Given the description of an element on the screen output the (x, y) to click on. 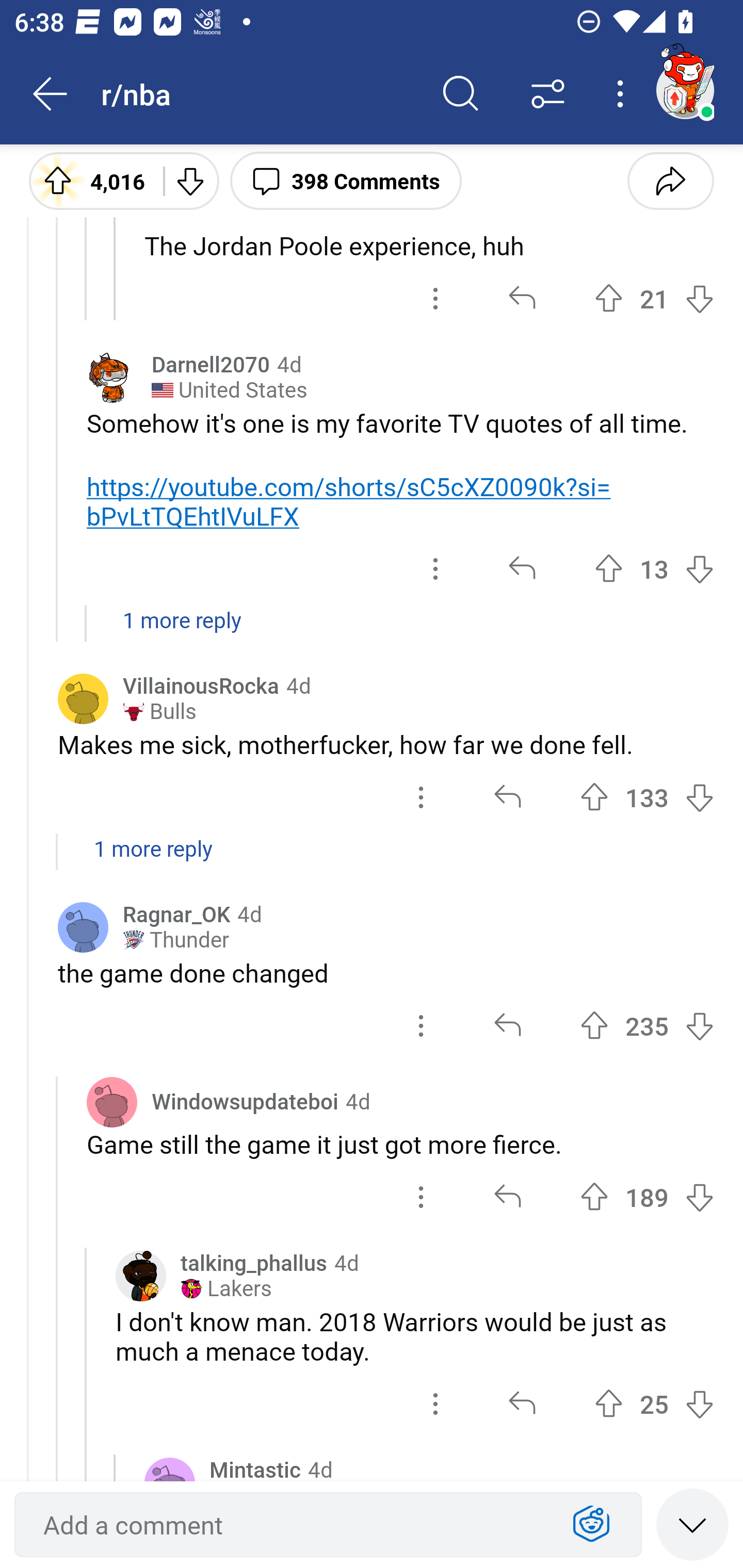
Back (50, 93)
TestAppium002 account (685, 90)
Search comments (460, 93)
Sort comments (547, 93)
More options (623, 93)
r/nba (259, 92)
Upvote 4,016 (88, 180)
Downvote (189, 180)
398 Comments (346, 180)
Share (670, 180)
options (435, 297)
Upvote 21 21 votes Downvote (654, 297)
Avatar (111, 377)
￼ United States (229, 389)
options (435, 569)
Upvote 13 13 votes Downvote (654, 569)
1 more reply (371, 630)
Avatar (82, 699)
￼ Bulls (159, 711)
Makes me sick, motherfucker, how far we done fell. (385, 744)
options (420, 798)
Upvote 133 133 votes Downvote (647, 798)
1 more reply (371, 859)
Avatar (82, 927)
￼ Thunder (175, 939)
the game done changed (385, 972)
options (420, 1025)
Upvote 235 235 votes Downvote (647, 1025)
Avatar (111, 1102)
Game still the game it just got more fierce. (400, 1143)
options (420, 1197)
Upvote 189 189 votes Downvote (647, 1197)
Custom avatar (140, 1276)
￼ Lakers (225, 1288)
options (435, 1403)
Upvote 25 25 votes Downvote (654, 1403)
Speed read (692, 1524)
Add a comment (291, 1524)
Show Expressions (590, 1524)
